Given the description of an element on the screen output the (x, y) to click on. 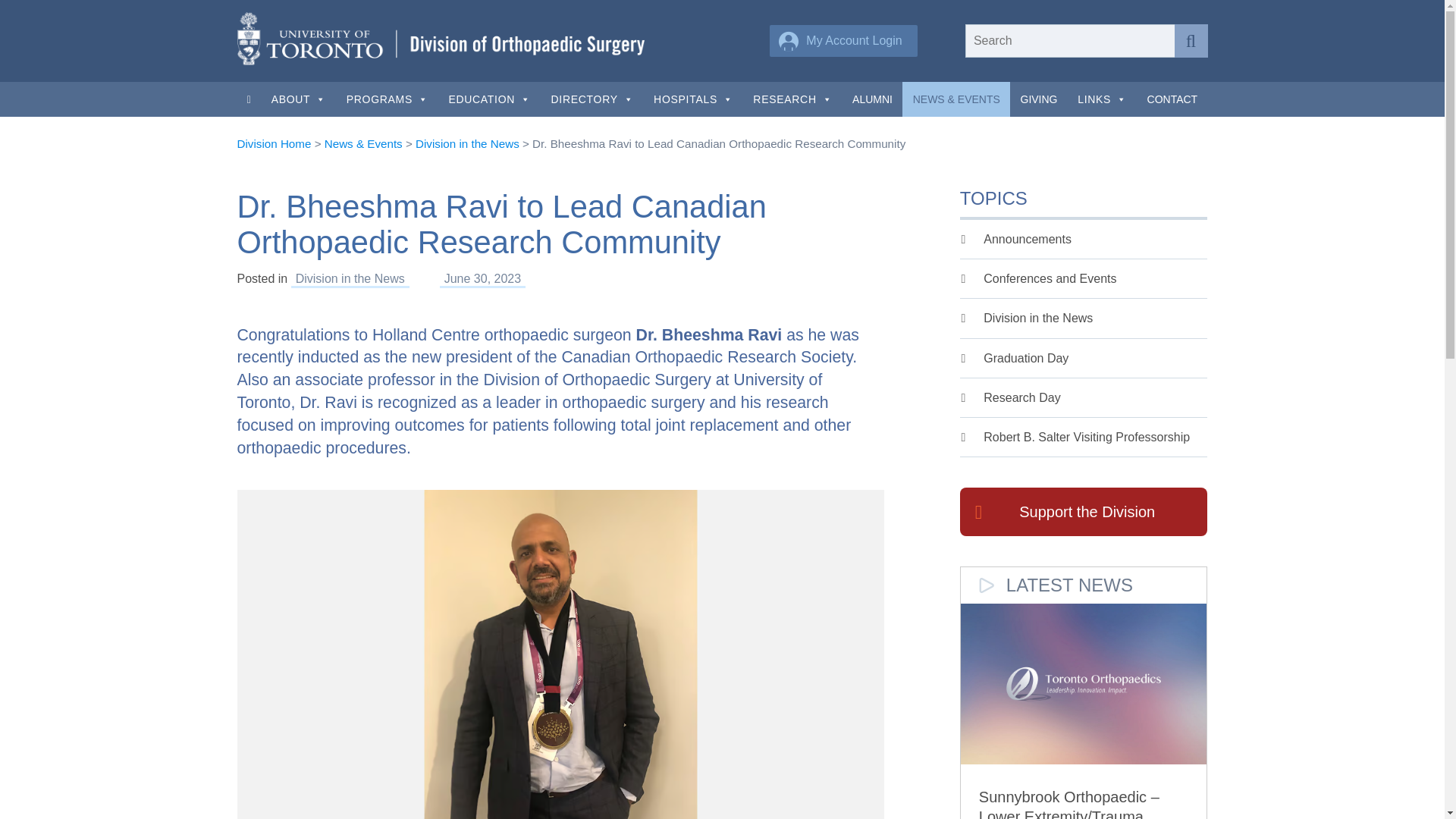
Enter search query (1100, 40)
Go to UofT Division of Orthopaedic Surgery. (273, 143)
EDUCATION (489, 99)
My Account Login (843, 40)
ABOUT (298, 99)
PROGRAMS (387, 99)
Go to the Division in the News category archives. (466, 143)
